Given the description of an element on the screen output the (x, y) to click on. 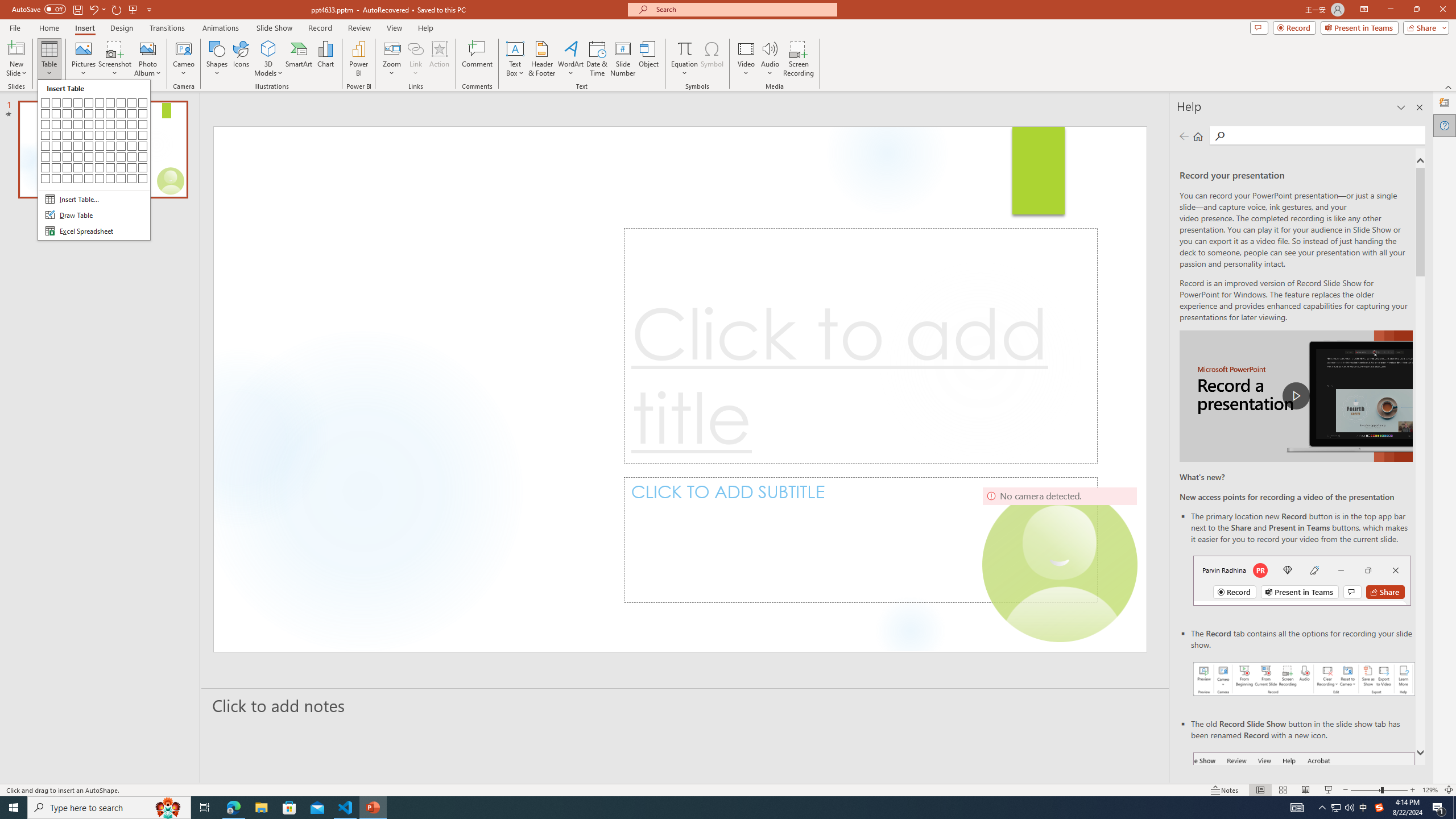
Slide Number (622, 58)
